Given the description of an element on the screen output the (x, y) to click on. 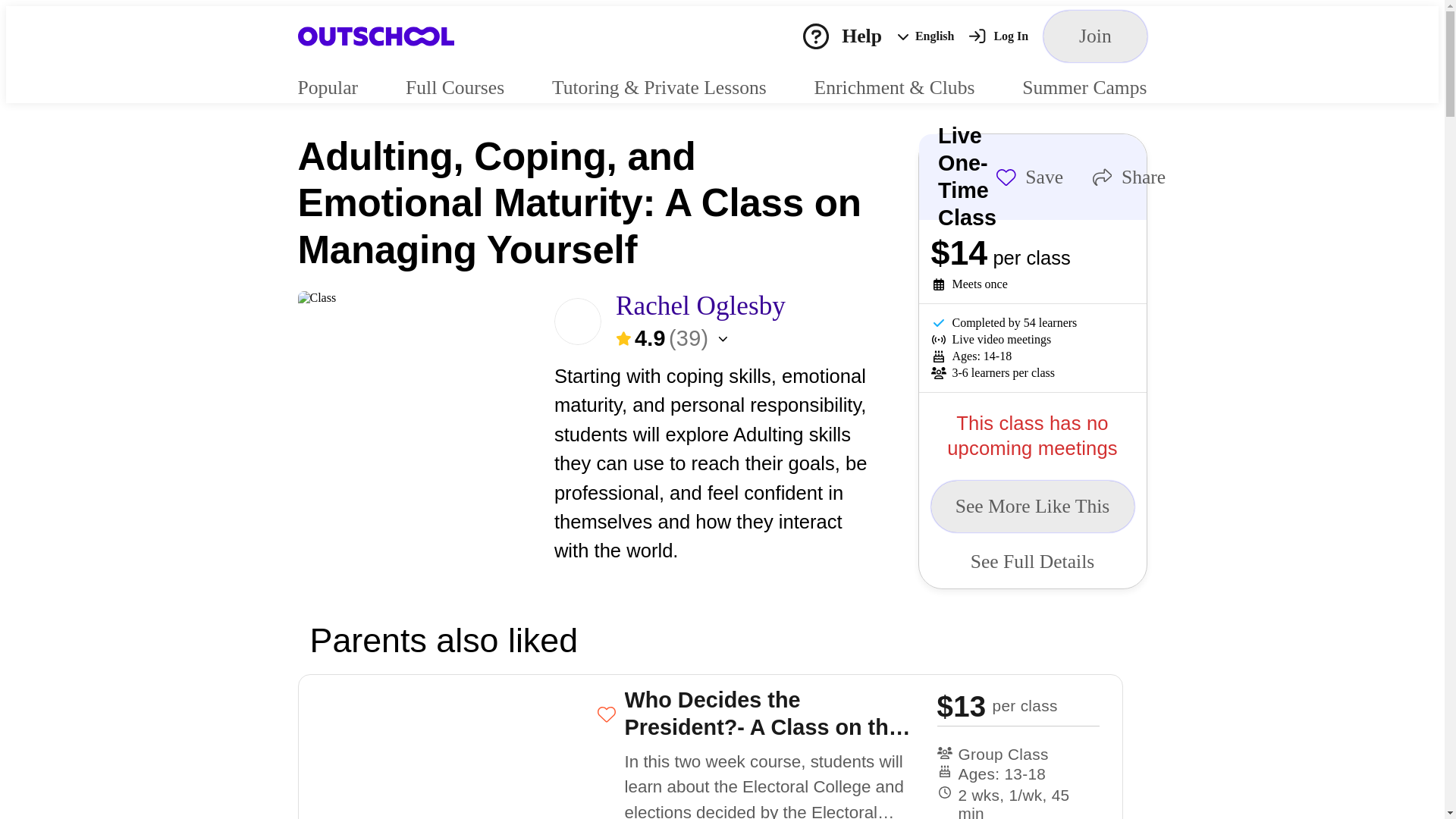
See More Like This (1032, 506)
Save (1028, 177)
Summer Camps (1084, 86)
Join (1095, 36)
Share (1129, 177)
See Full Details (1032, 561)
Full Courses (454, 86)
Popular (327, 86)
Log In (998, 35)
Help (842, 36)
